Given the description of an element on the screen output the (x, y) to click on. 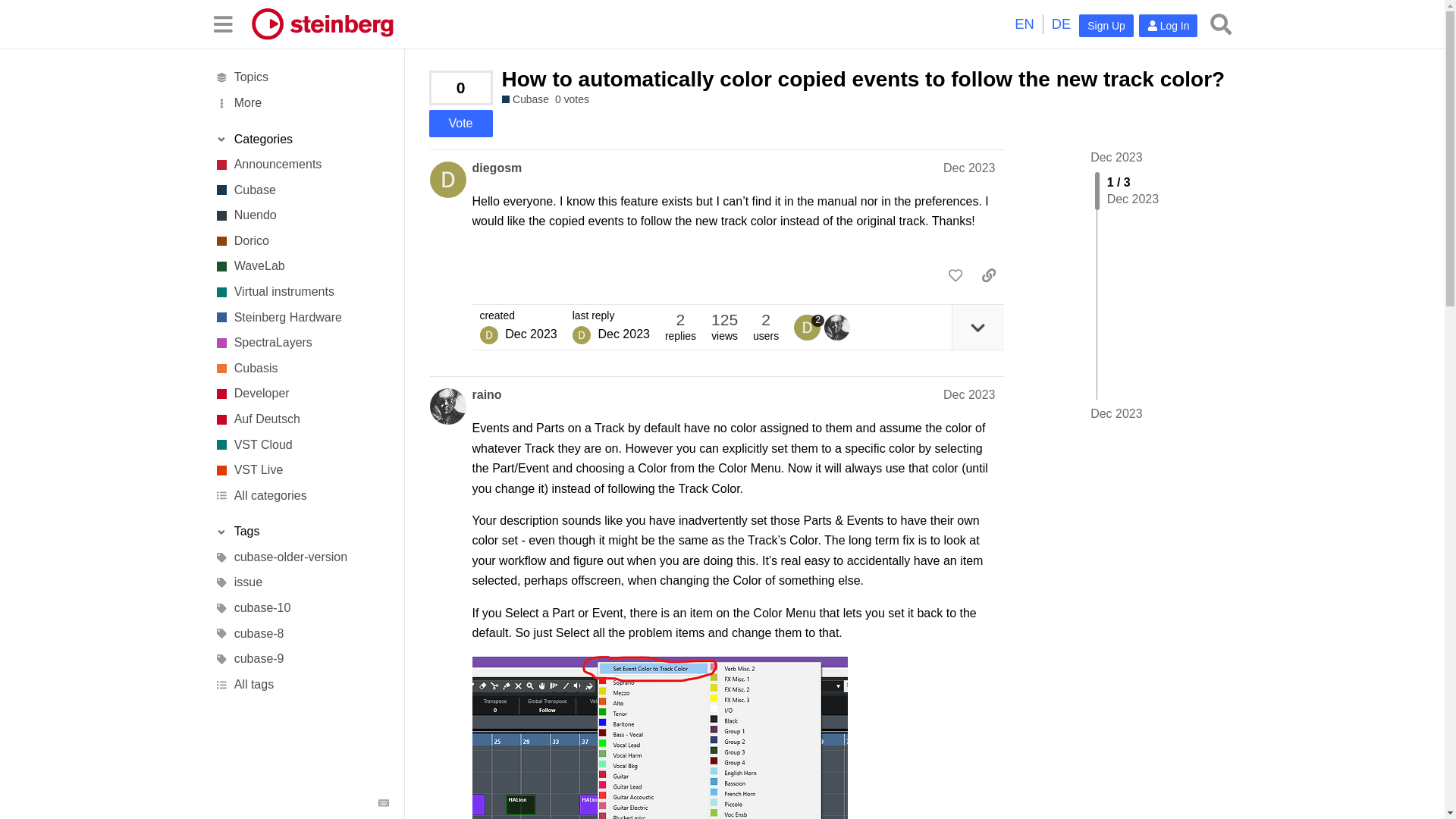
WaveLab (301, 266)
cubase-9 (301, 659)
Toggle section (301, 532)
More (301, 103)
0 votes (571, 99)
VST Cloud (301, 444)
Toggle section (301, 139)
EN (1024, 23)
The vanguard of spectral editing and repair. (301, 343)
All topics (301, 77)
Topics (301, 77)
Log In (1168, 25)
Cubase (526, 99)
Developer (301, 394)
cubase-older-version (301, 557)
